Given the description of an element on the screen output the (x, y) to click on. 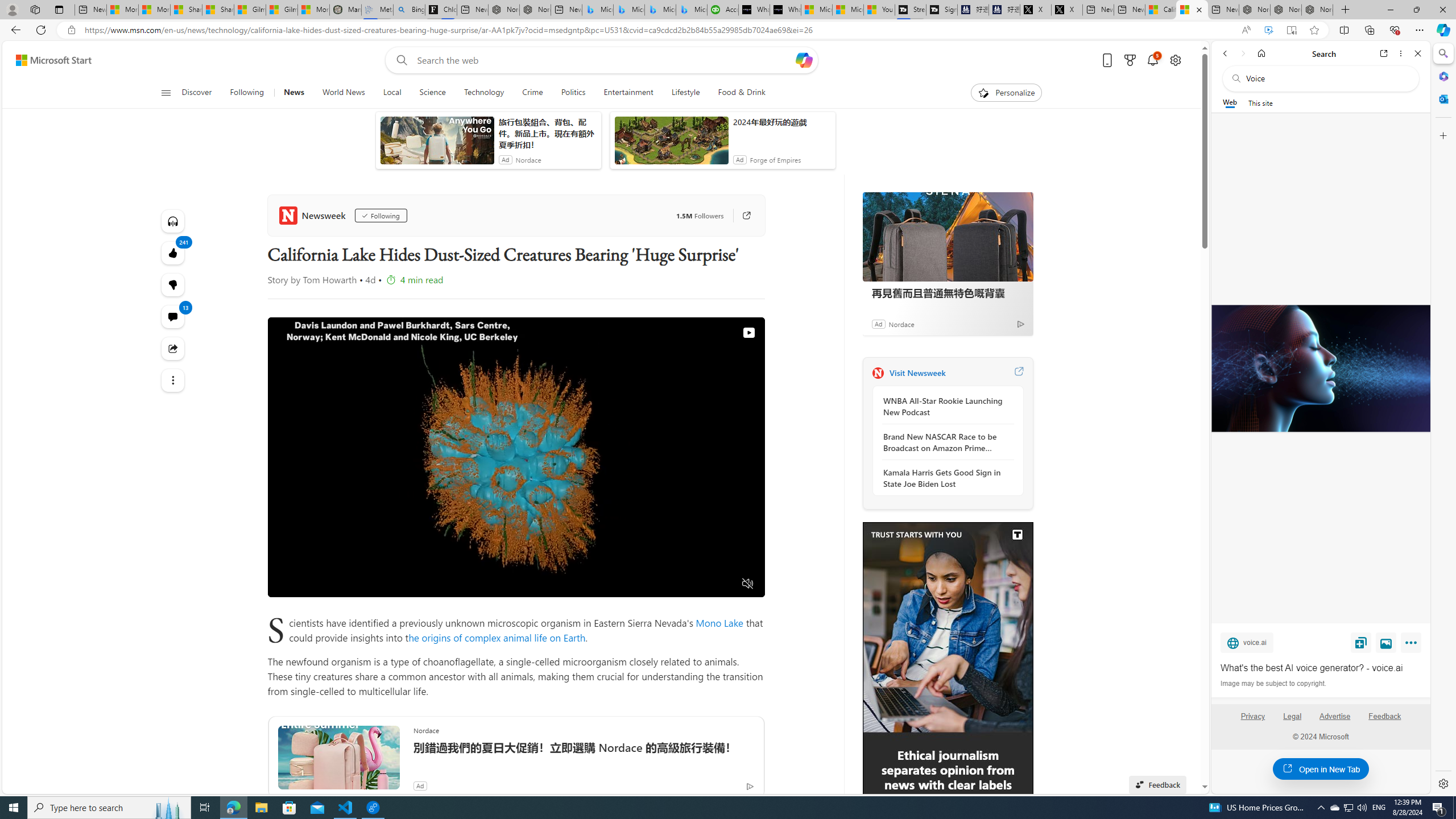
Ad Choice (1020, 323)
Discover (197, 92)
Discover (201, 92)
Nordace (901, 323)
Image may be subject to copyright. (1273, 682)
Manatee Mortality Statistics | FWC (345, 9)
Refresh (40, 29)
Feedback (1384, 715)
Feedback (1384, 720)
Quality Settings (679, 583)
Technology (483, 92)
More like this241Fewer like thisView comments (172, 284)
X (1066, 9)
